Given the description of an element on the screen output the (x, y) to click on. 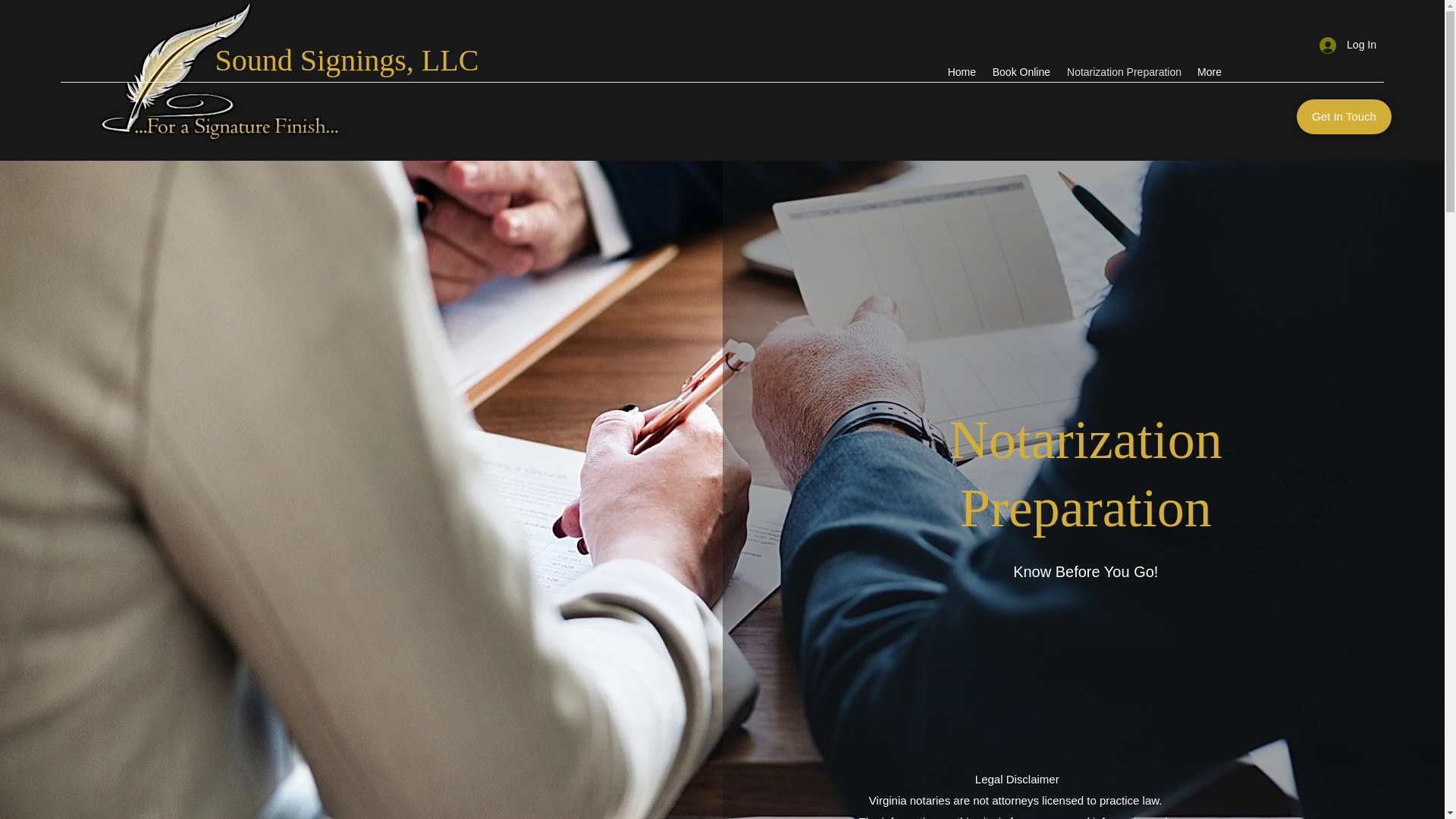
Home (961, 72)
Log In (1347, 44)
Get In Touch (1344, 116)
Notarization Preparation (1123, 72)
Book Online (1021, 72)
